Given the description of an element on the screen output the (x, y) to click on. 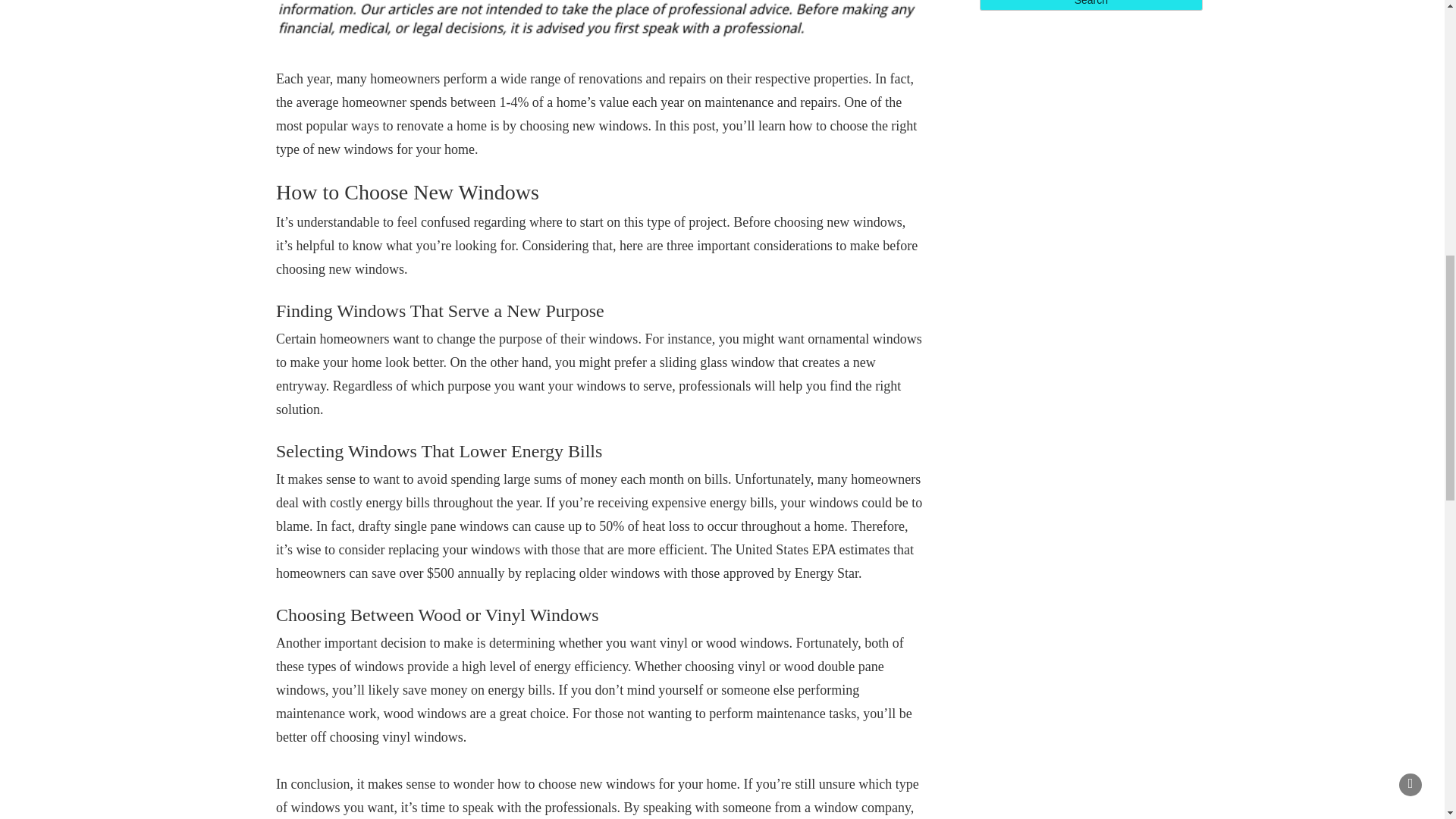
Search (1090, 5)
Search (1090, 5)
Search (1090, 5)
